Given the description of an element on the screen output the (x, y) to click on. 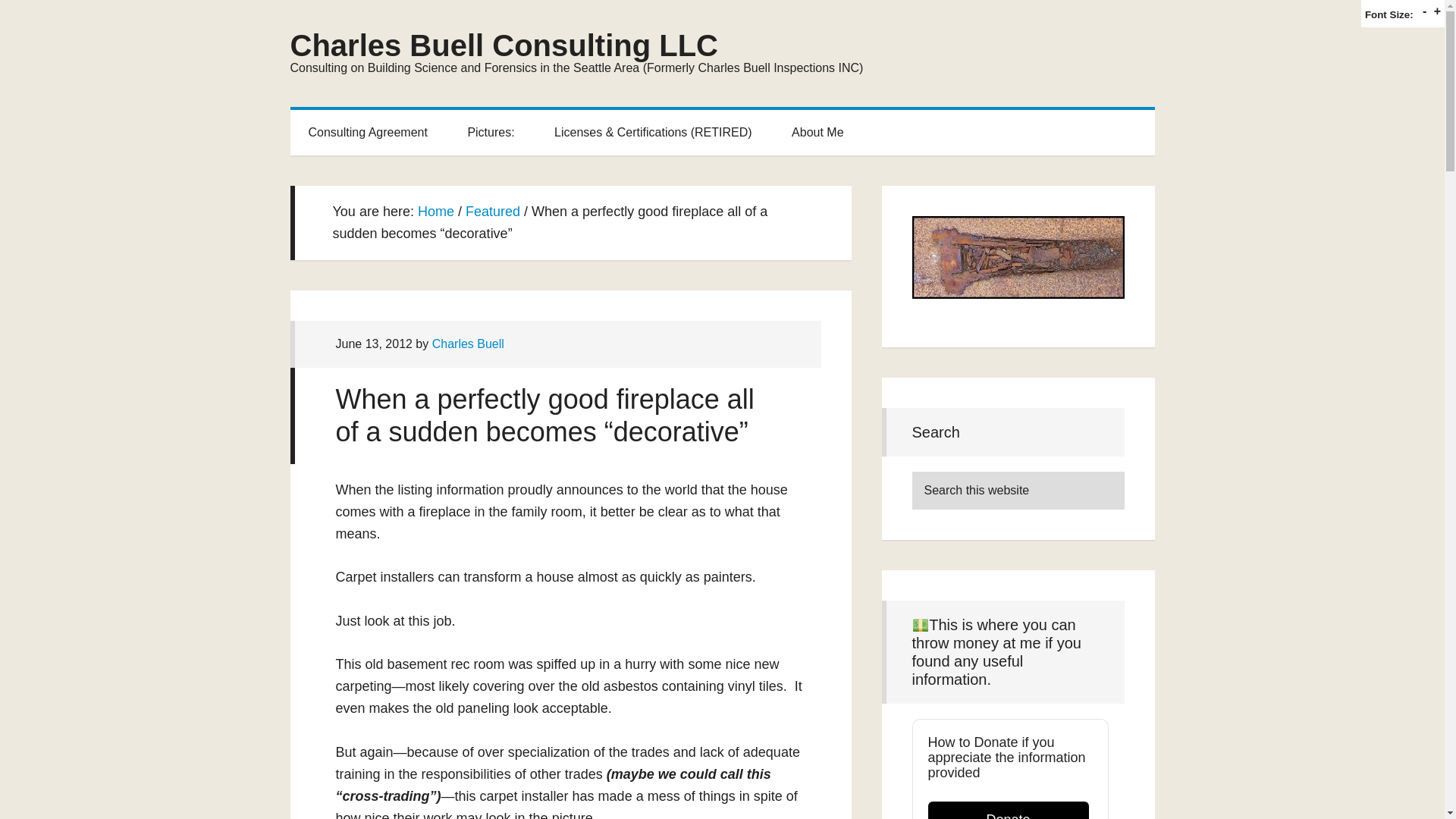
Charles Buell Consulting (817, 132)
About Me (817, 132)
Charles Buell Consulting LLC (503, 45)
Donate (1008, 810)
Consulting Agreement (367, 132)
Adjust the font size of the website (1389, 14)
Pictures: (490, 132)
Charles Buell (467, 343)
Home (435, 211)
Featured (492, 211)
